Given the description of an element on the screen output the (x, y) to click on. 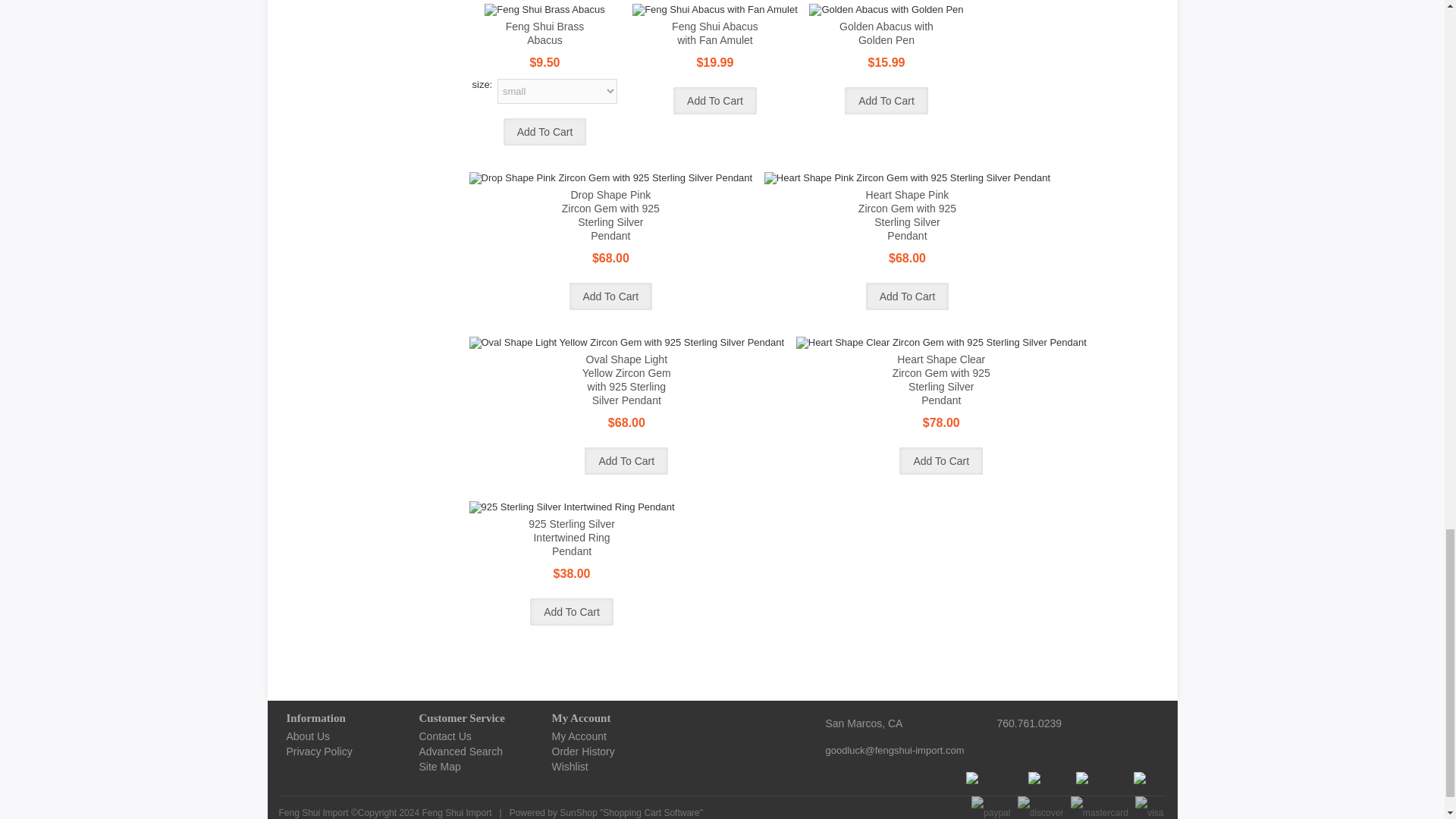
Facebook (994, 777)
Ecommerce Shopping Cart Software (650, 812)
RSS (1150, 777)
Add To Cart (544, 131)
Add To Cart (886, 100)
Twitter (1047, 777)
Add To Cart (714, 100)
Pinterest (1100, 777)
